Given the description of an element on the screen output the (x, y) to click on. 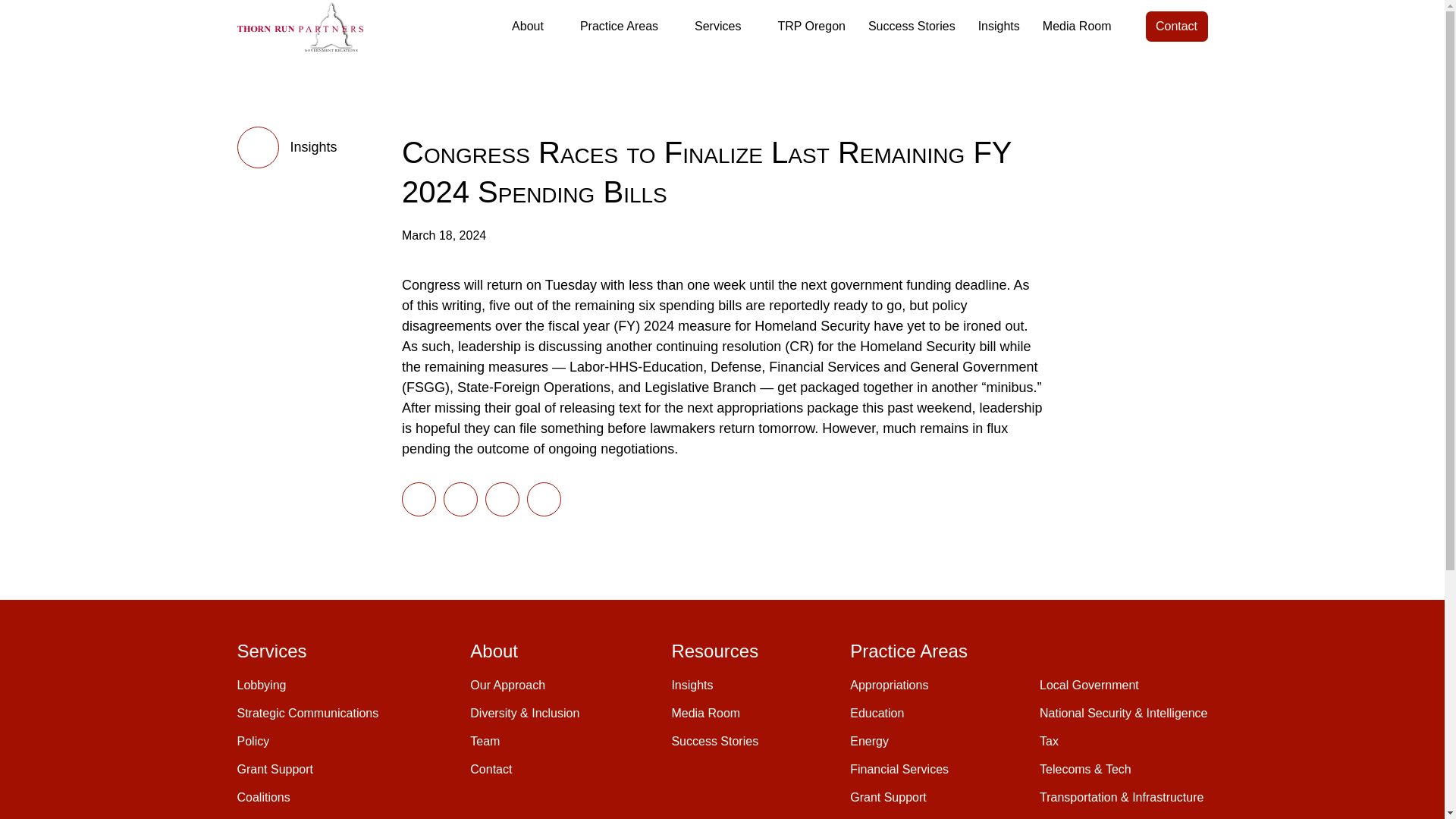
Strategic Communications (306, 712)
Insights (285, 147)
Media Room (1076, 26)
Insights (998, 26)
Policy (252, 740)
Success Stories (911, 26)
Contact (1175, 26)
TRP Oregon (810, 26)
Grant Support (274, 768)
Lobbying (260, 684)
